Given the description of an element on the screen output the (x, y) to click on. 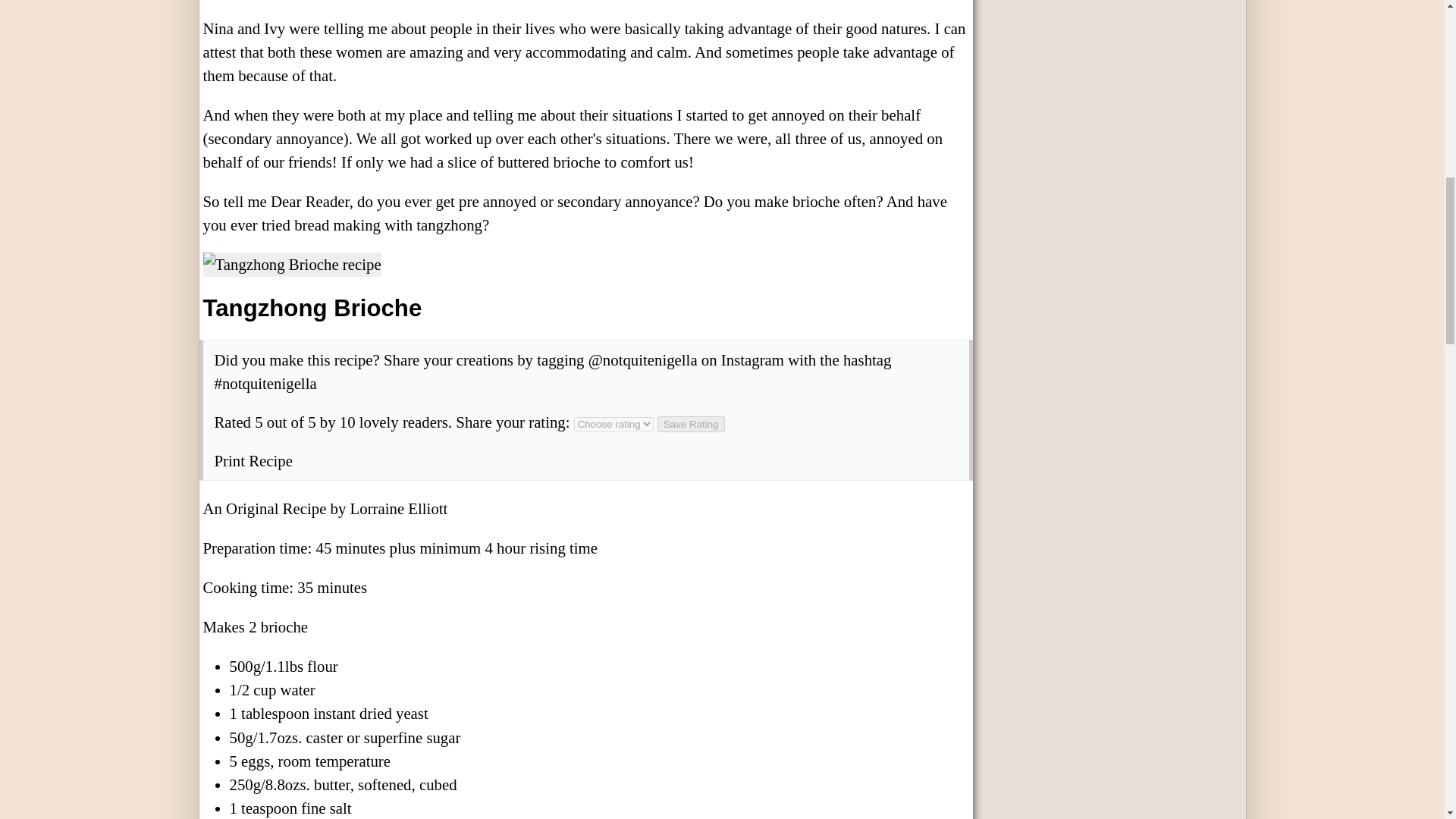
Print Recipe (253, 460)
Save Rating (691, 424)
